Given the description of an element on the screen output the (x, y) to click on. 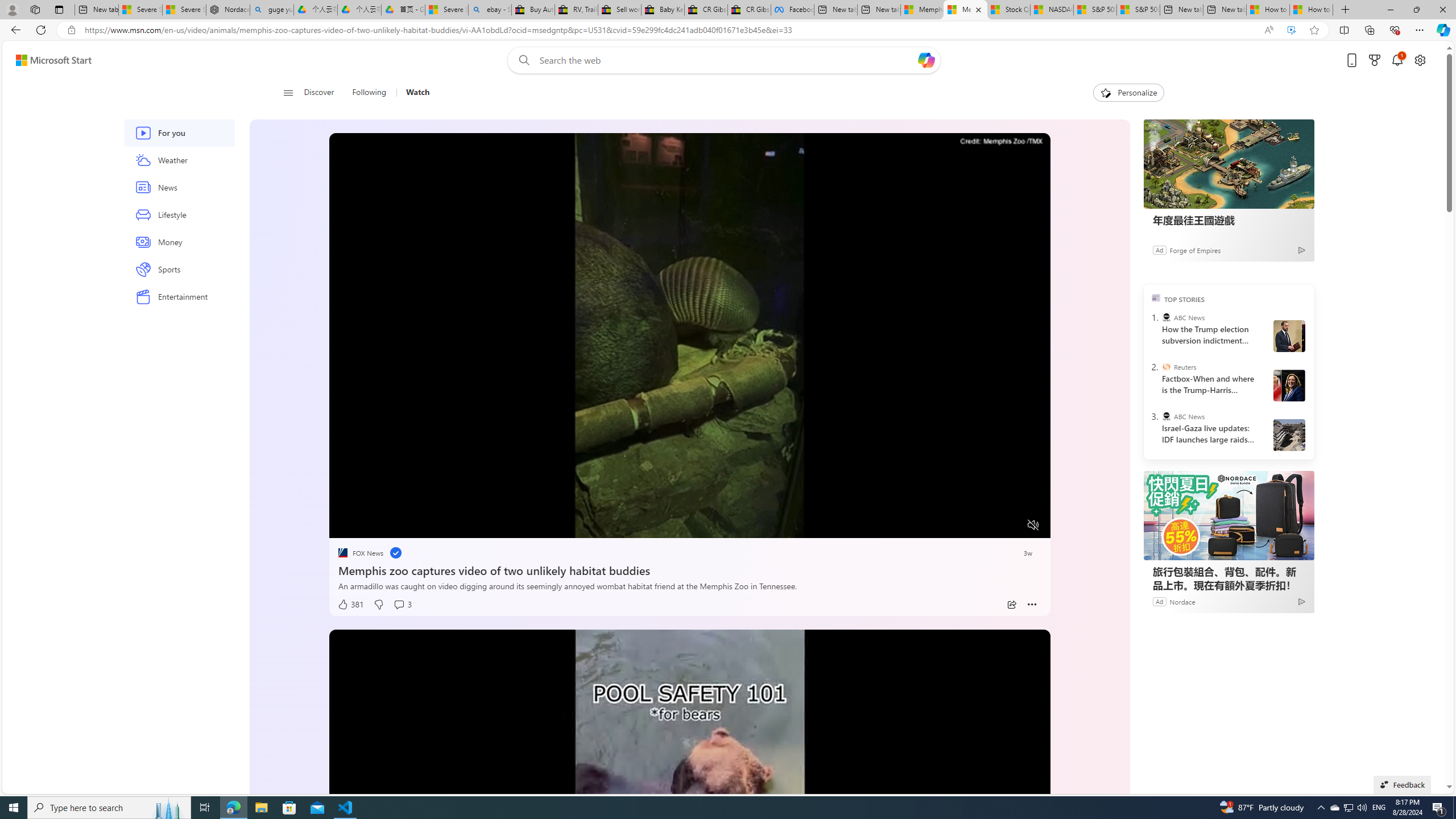
Enhance video (1291, 29)
Microsoft rewards (1374, 60)
Facebook (791, 9)
Unmute (1033, 524)
Memphis zoo captures video of two unlikely habitat buddies (689, 568)
381 Like (349, 604)
Open settings (1420, 60)
